Given the description of an element on the screen output the (x, y) to click on. 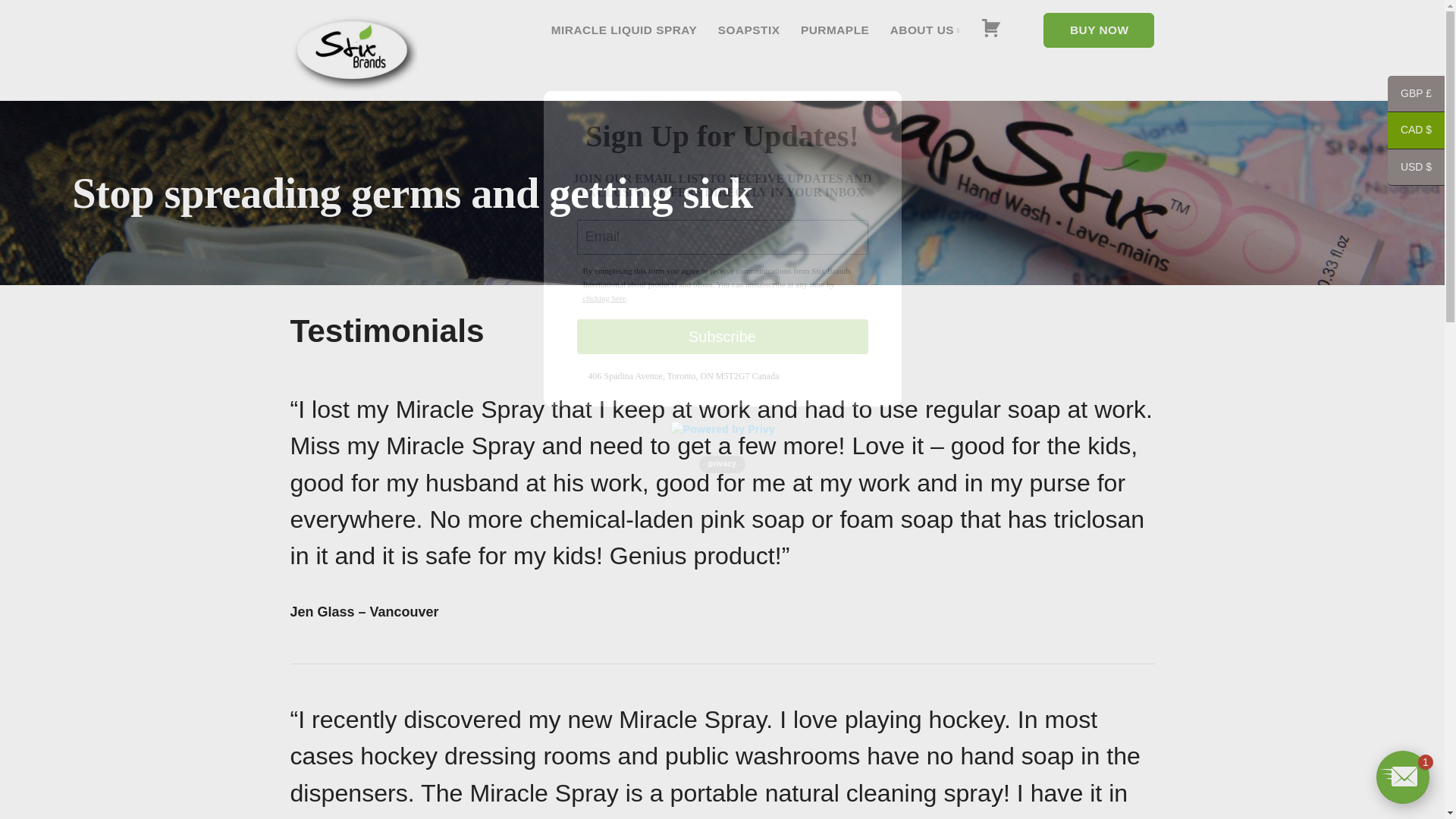
MIRACLE LIQUID SPRAY (624, 29)
clicking here (604, 296)
BUY NOW (1098, 30)
SOAPSTIX (748, 29)
privacy (721, 464)
Close (882, 108)
CART (991, 29)
ABOUT US (924, 29)
Subscribe (721, 336)
PURMAPLE (834, 29)
